Given the description of an element on the screen output the (x, y) to click on. 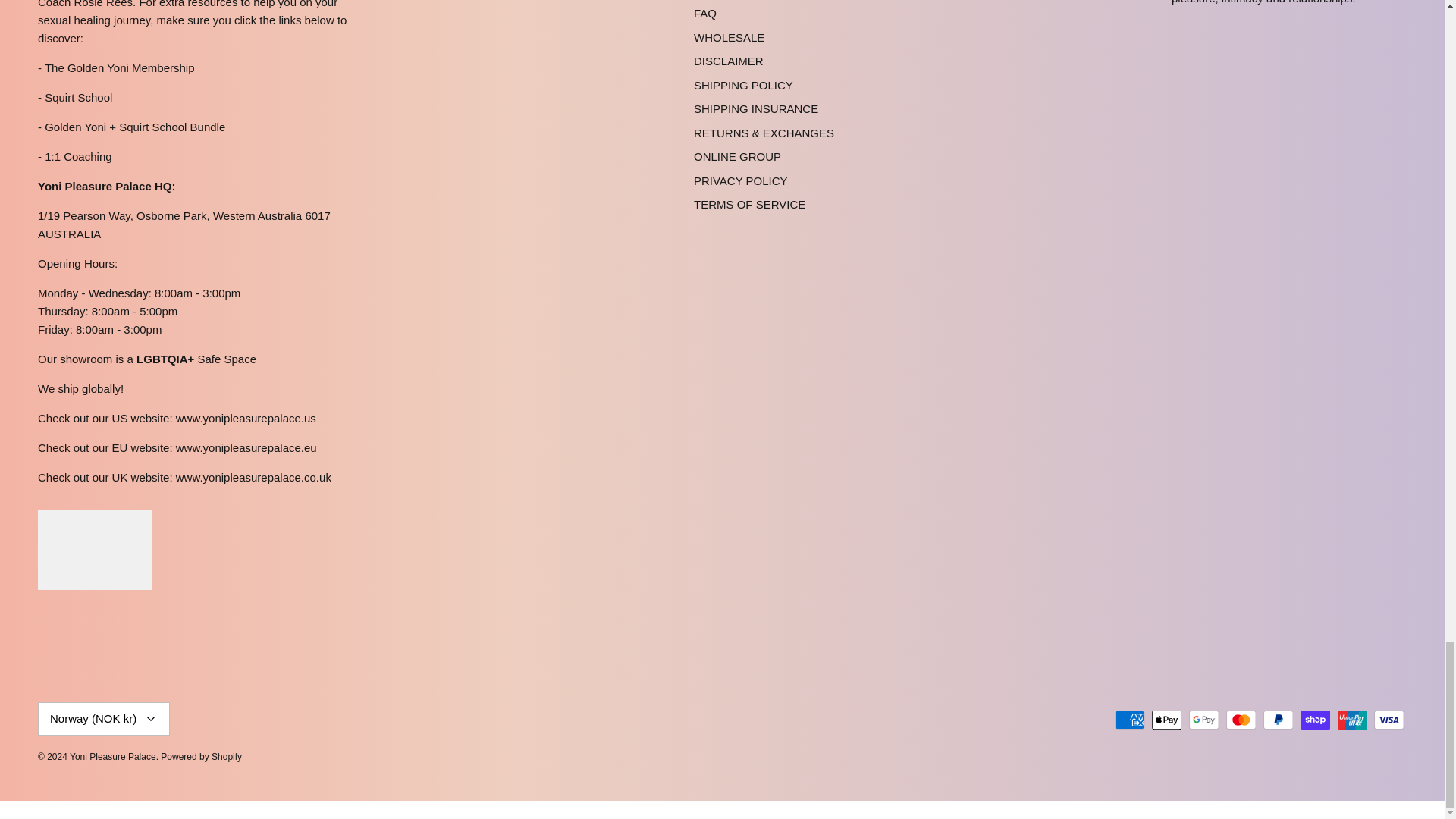
Google Pay (1203, 719)
Down (150, 718)
Apple Pay (1166, 719)
American Express (1129, 719)
Union Pay (1352, 719)
Mastercard (1240, 719)
Shop Pay (1315, 719)
PayPal (1277, 719)
Visa (1388, 719)
